Given the description of an element on the screen output the (x, y) to click on. 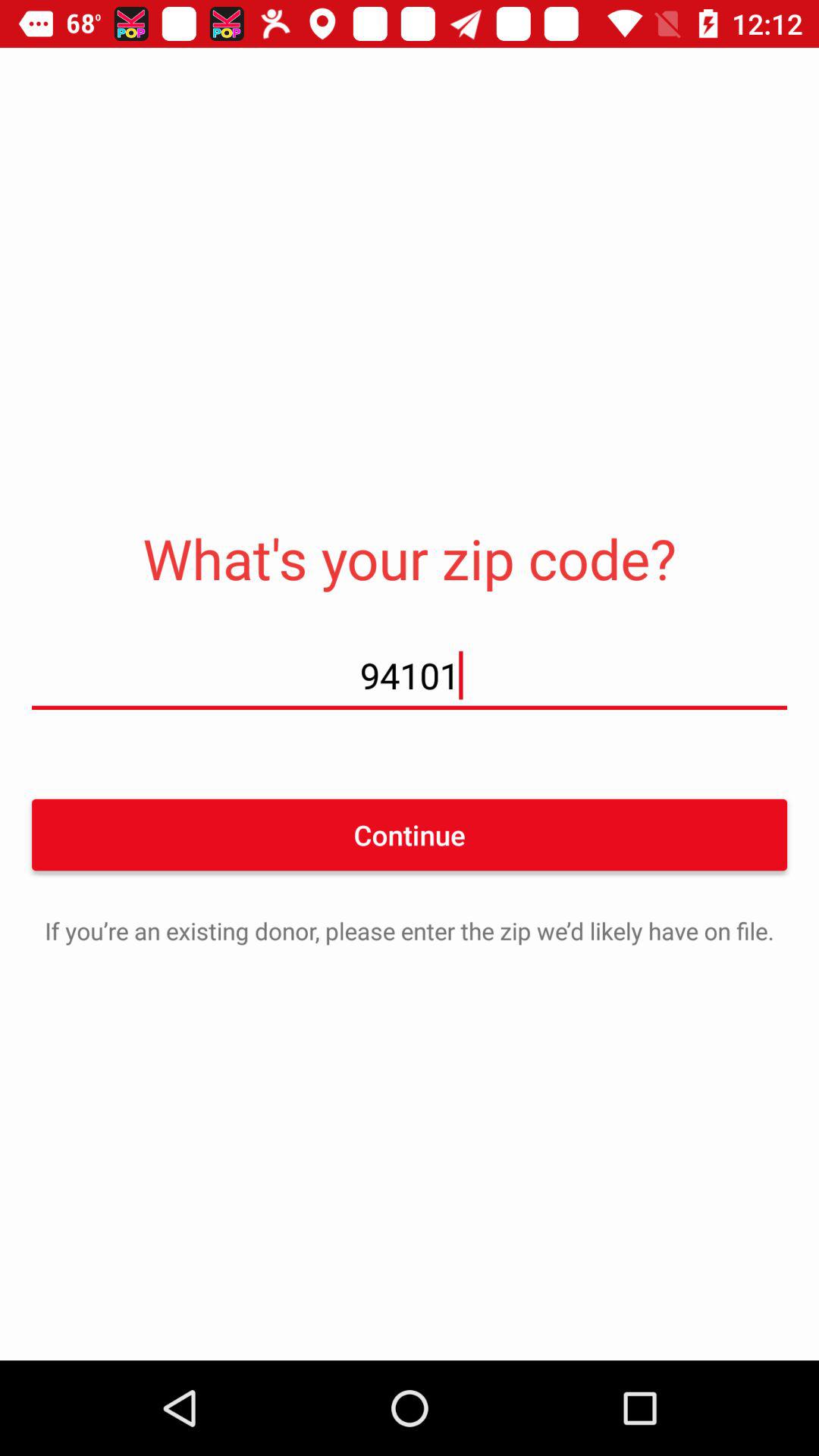
jump to 94101 icon (409, 675)
